Given the description of an element on the screen output the (x, y) to click on. 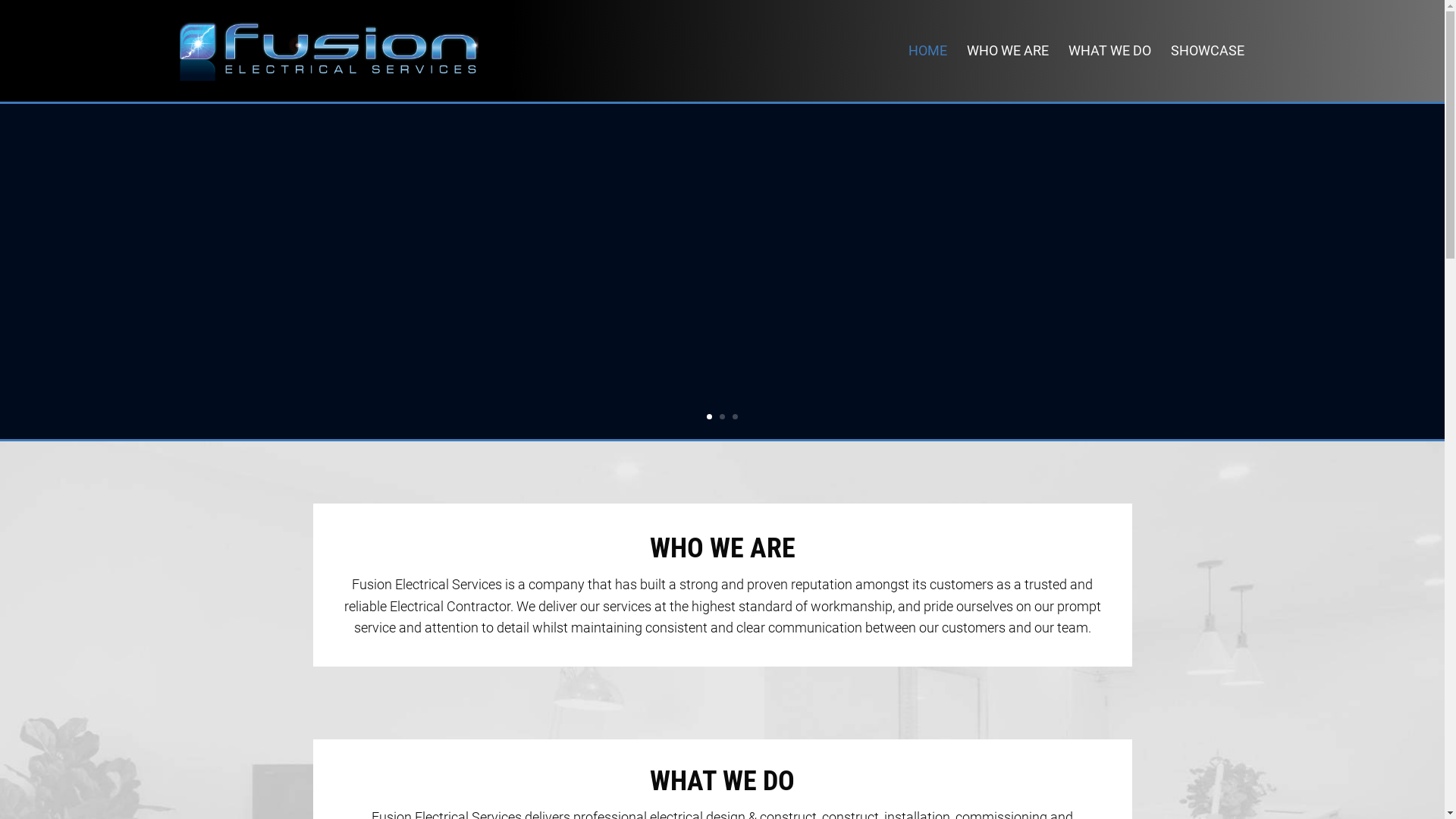
SHOWCASE Element type: text (1207, 73)
HOME Element type: text (927, 73)
WHAT WE DO Element type: text (1108, 73)
1 Element type: text (709, 416)
2 Element type: text (721, 416)
WHO WE ARE Element type: text (1007, 73)
3 Element type: text (734, 416)
